Given the description of an element on the screen output the (x, y) to click on. 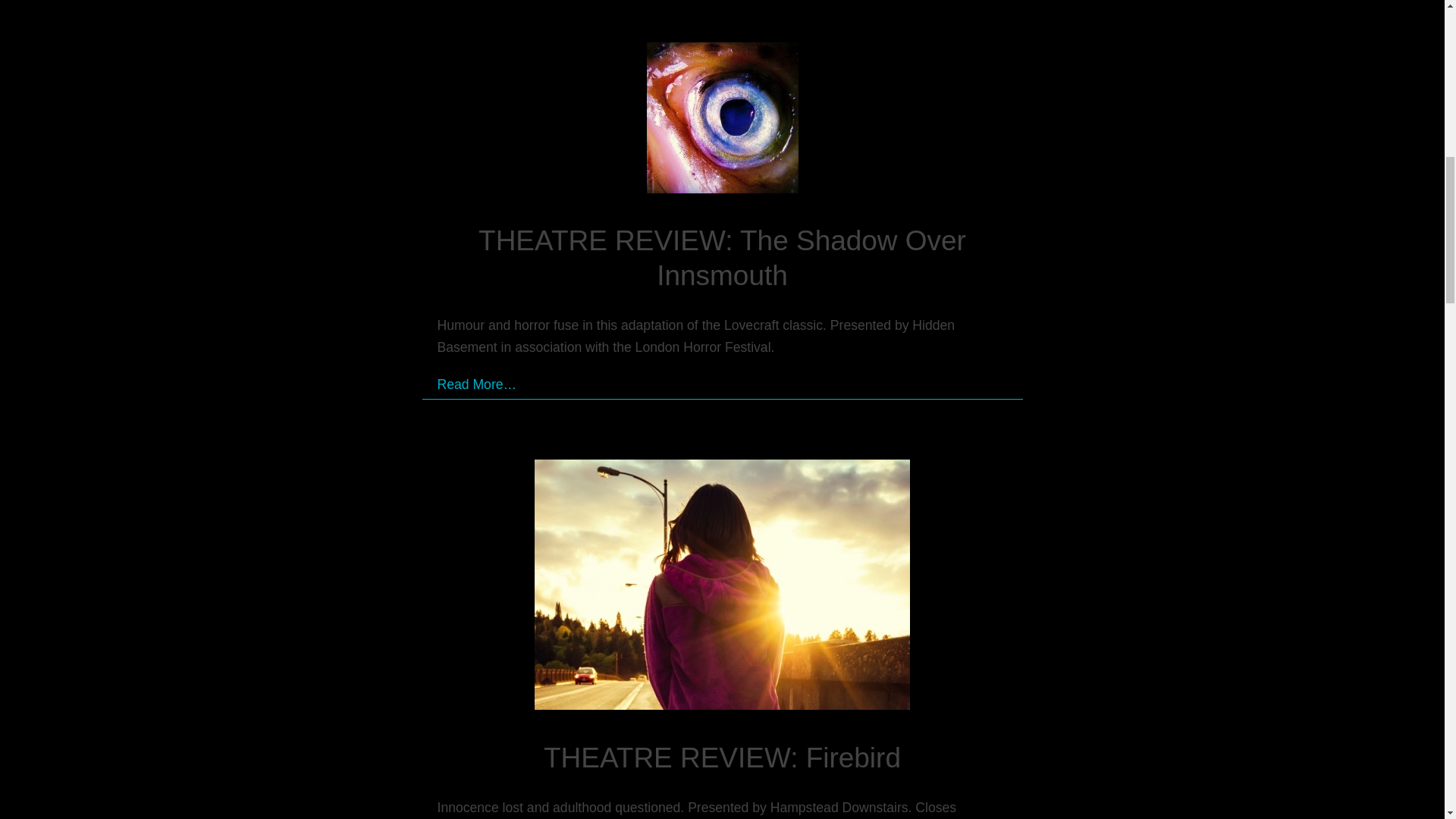
THEATRE REVIEW: Firebird (722, 757)
THEATRE REVIEW: The Shadow Over Innsmouth (722, 120)
THEATRE REVIEW: The Shadow Over Innsmouth (722, 258)
